Given the description of an element on the screen output the (x, y) to click on. 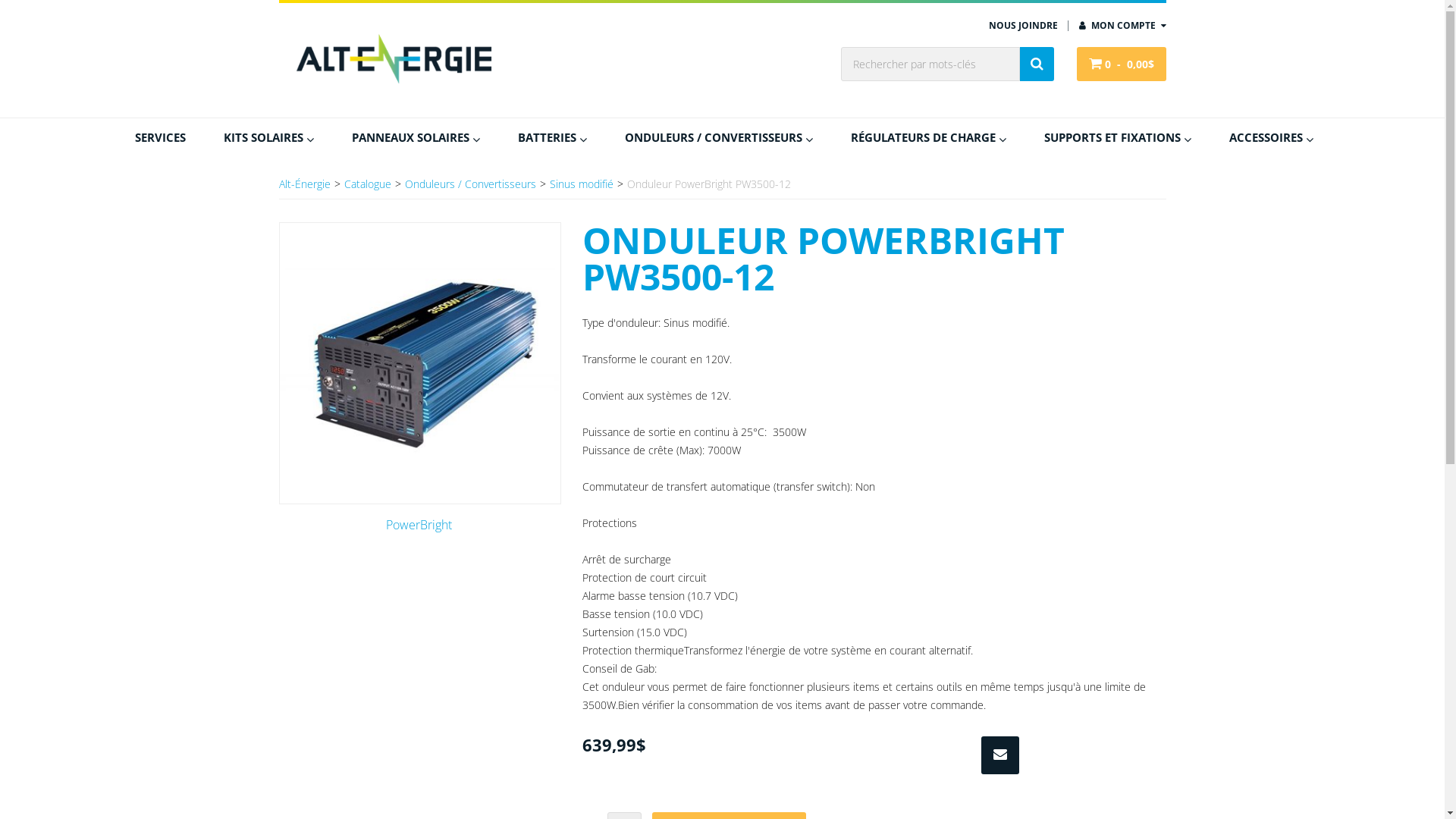
PANNEAUX SOLAIRES Element type: text (415, 137)
Onduleur PowerBright PW3500-12 Element type: hover (420, 363)
SERVICES Element type: text (163, 137)
MON COMPTE Element type: text (1121, 24)
Catalogue Element type: text (367, 183)
Onduleurs / Convertisseurs Element type: text (470, 183)
ACCESSOIRES Element type: text (1265, 137)
Informer un ami Element type: hover (1000, 755)
PowerBright Element type: text (418, 524)
ONDULEURS / CONVERTISSEURS Element type: text (718, 137)
KITS SOLAIRES Element type: text (268, 137)
BATTERIES Element type: text (551, 137)
NOUS JOINDRE Element type: text (1022, 24)
SUPPORTS ET FIXATIONS Element type: text (1117, 137)
